Given the description of an element on the screen output the (x, y) to click on. 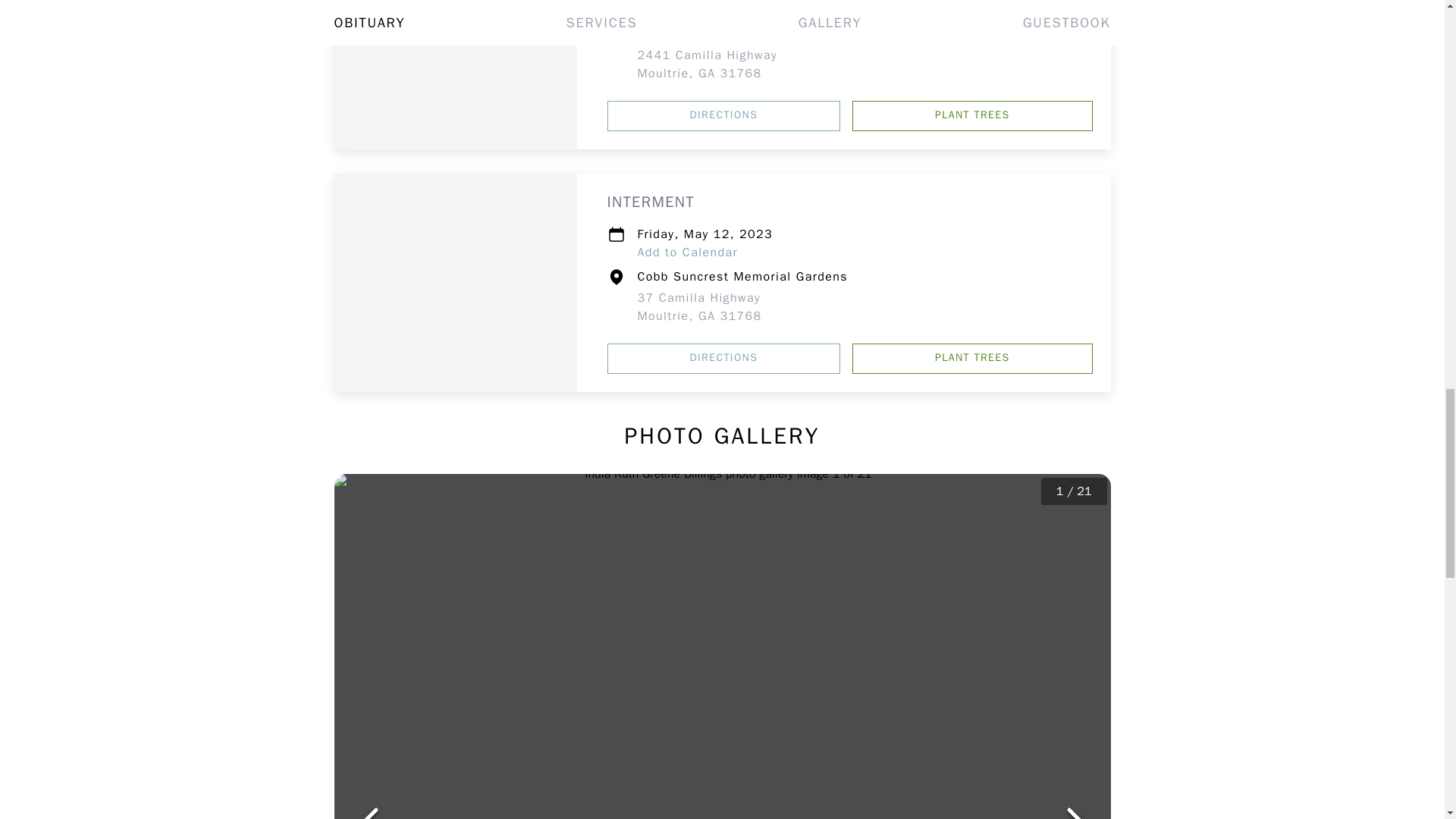
Add to Calendar (687, 9)
DIRECTIONS (723, 115)
PLANT TREES (971, 115)
